Given the description of an element on the screen output the (x, y) to click on. 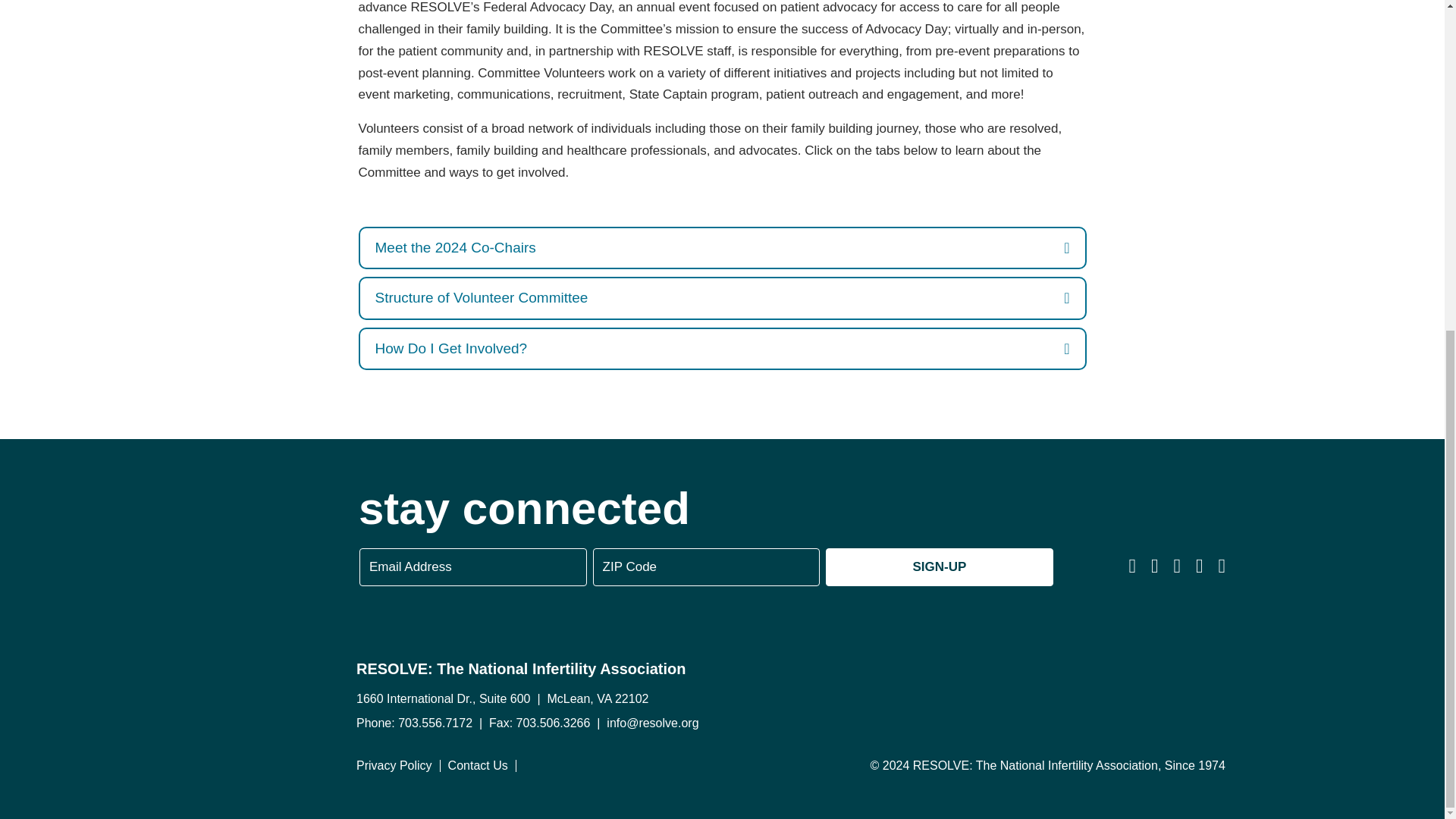
7235119 (908, 688)
SIGN-UP (938, 566)
NHC SOE Cmyk (1102, 689)
Icon Large (166, 560)
